Given the description of an element on the screen output the (x, y) to click on. 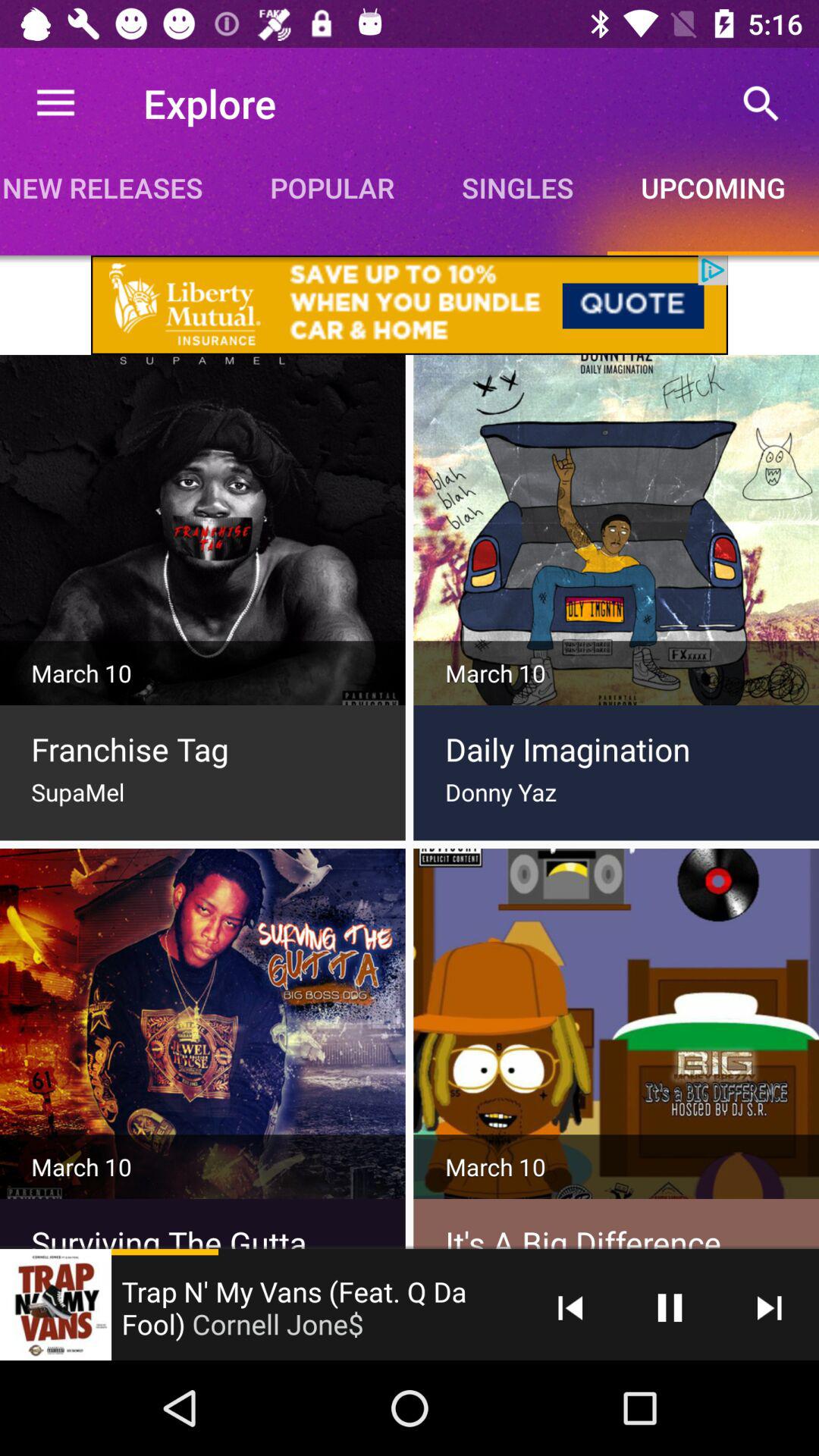
press icon next to popular item (517, 187)
